Given the description of an element on the screen output the (x, y) to click on. 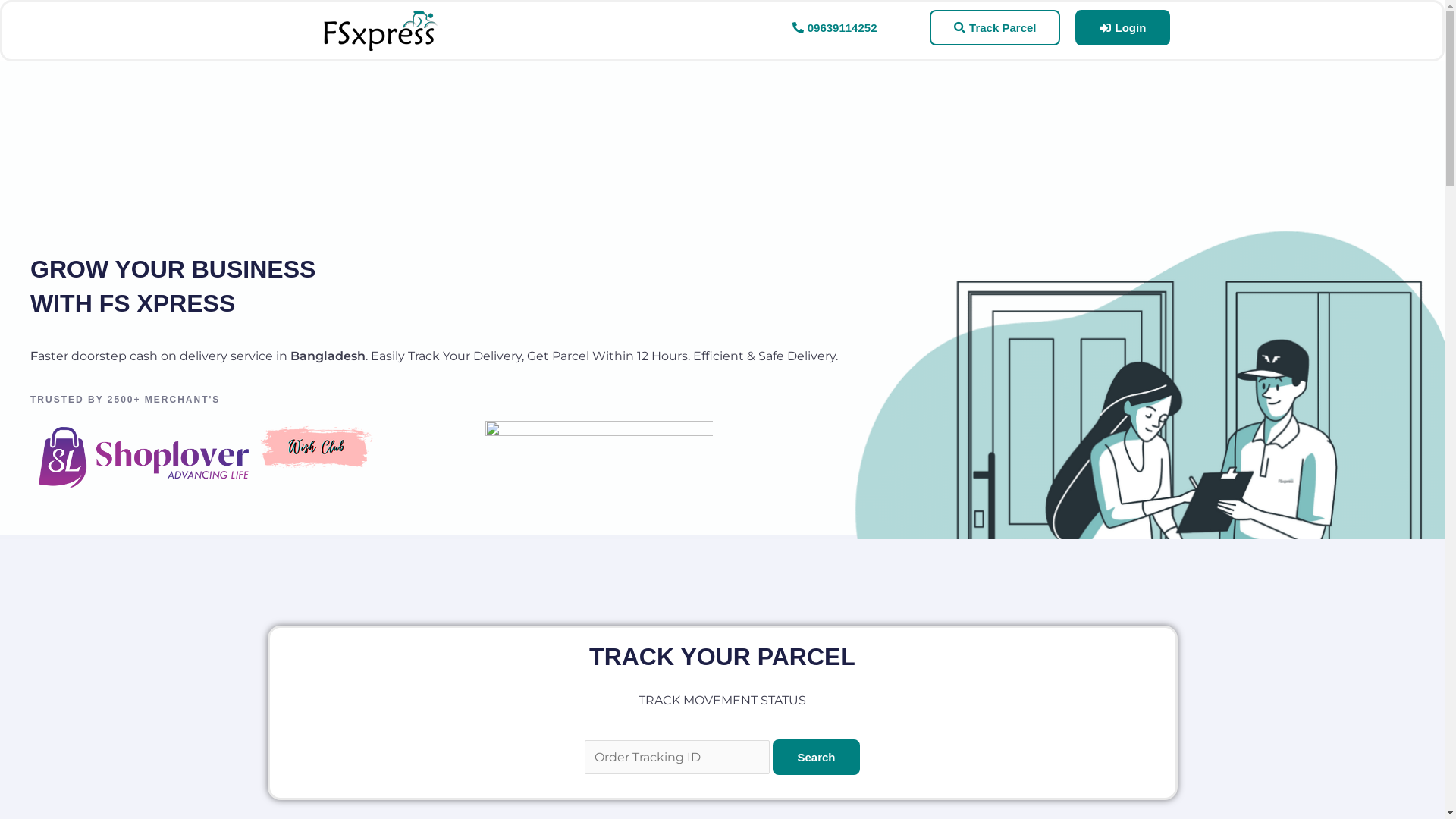
Search Element type: text (815, 757)
Login Element type: text (1122, 27)
09639114252 Element type: text (834, 27)
Track Parcel Element type: text (994, 27)
